Given the description of an element on the screen output the (x, y) to click on. 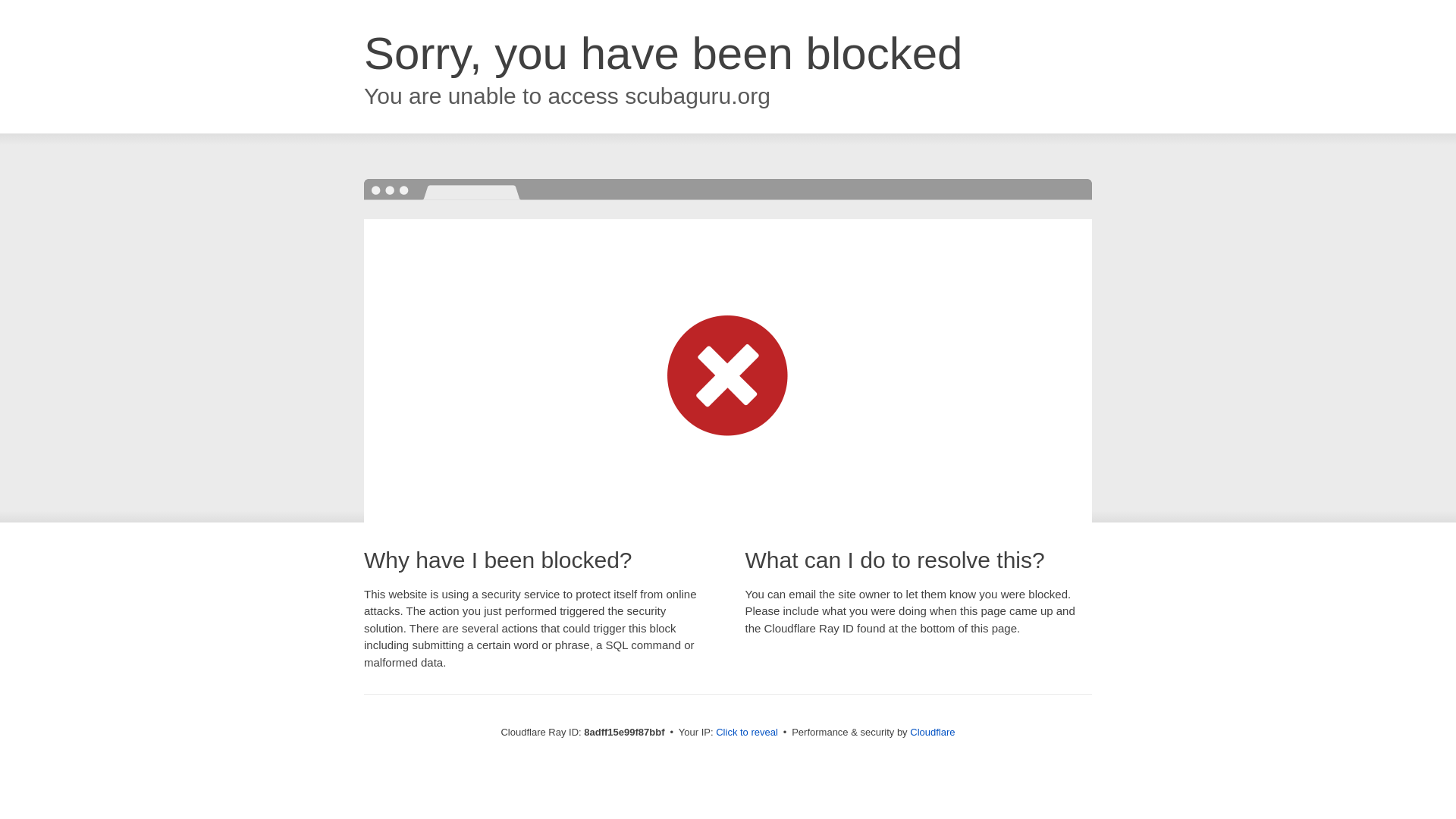
Click to reveal (746, 732)
Cloudflare (932, 731)
